Given the description of an element on the screen output the (x, y) to click on. 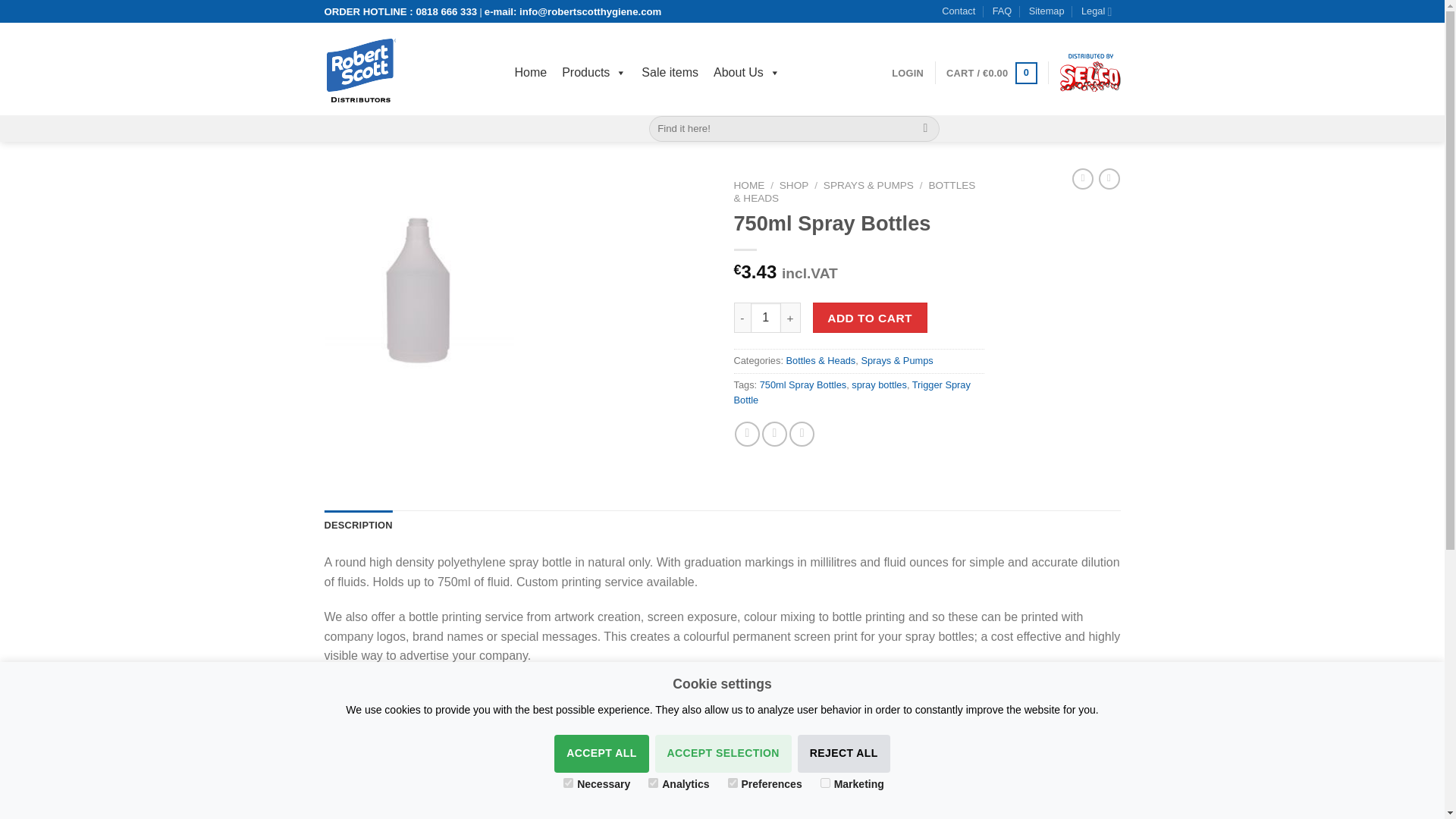
Marketing (825, 782)
Products (593, 72)
Share on Facebook (747, 433)
ACCEPT SELECTION (723, 753)
REJECT ALL (843, 753)
Sitemap (1046, 11)
Contact (958, 11)
Necessary (568, 782)
Login (907, 72)
0818 666 333 (445, 11)
